Given the description of an element on the screen output the (x, y) to click on. 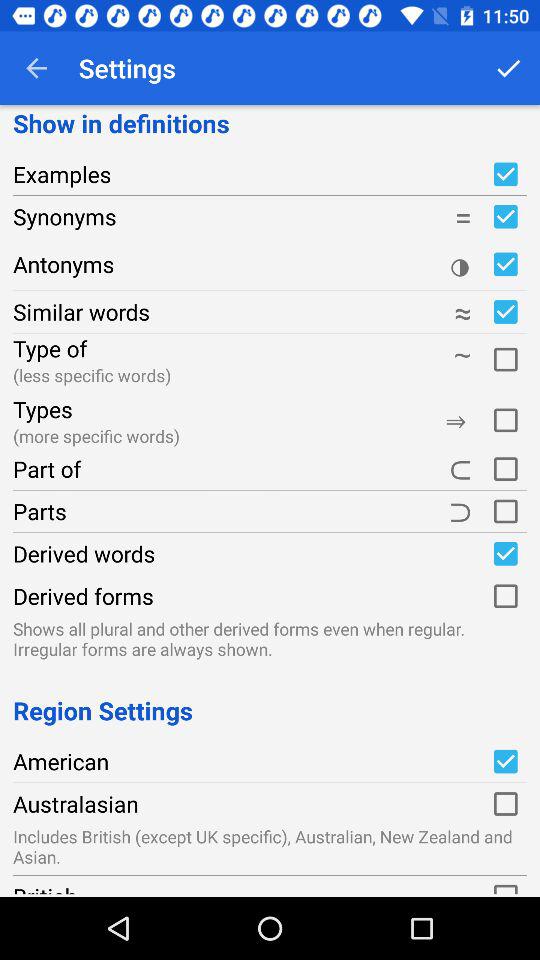
total parts setting (505, 511)
